Given the description of an element on the screen output the (x, y) to click on. 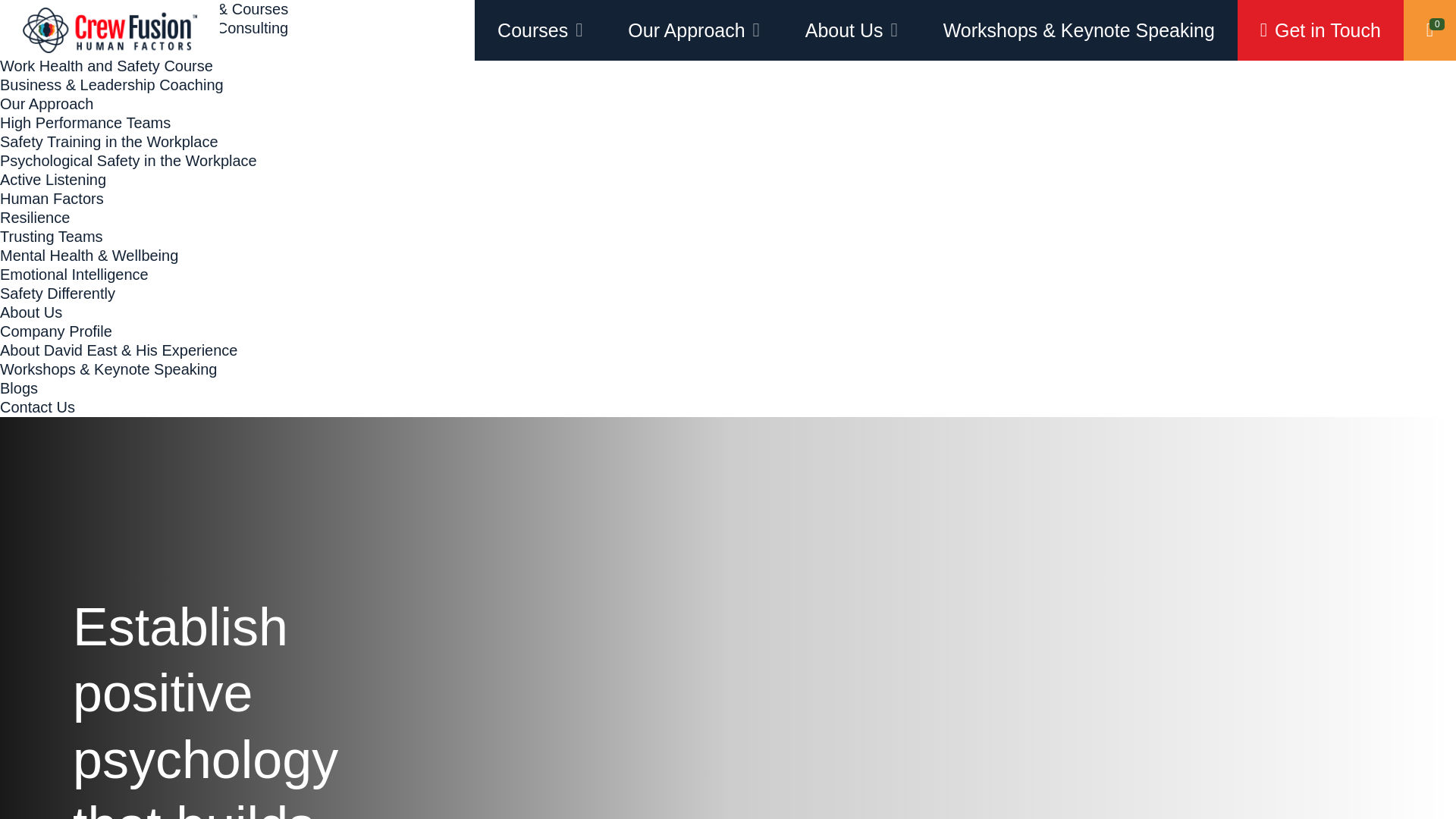
Blogs (18, 388)
Active Listening (53, 179)
Human Factors (51, 198)
Emotional Intelligence (74, 274)
Psychological Safety in the Workplace (128, 160)
Courses (539, 30)
Get in Touch (1320, 30)
Safety Training in the Workplace (109, 141)
Resilience (34, 217)
Human Factors Training (80, 46)
Safety Differently (57, 293)
Contact Us (37, 406)
High Performance Teams (85, 122)
About Us (31, 312)
Company Profile (56, 330)
